Given the description of an element on the screen output the (x, y) to click on. 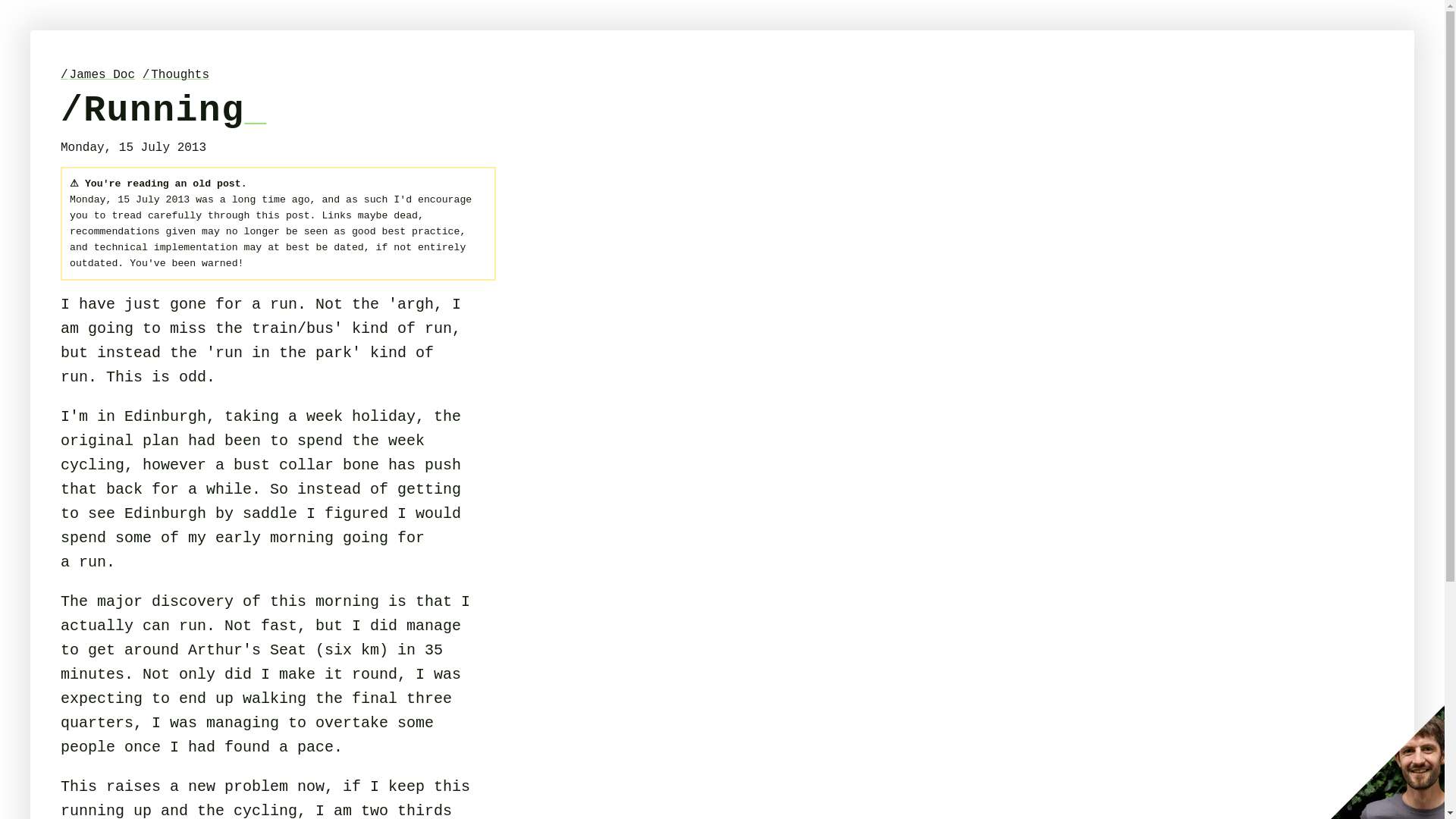
James Doc (98, 74)
Thoughts (175, 74)
